Given the description of an element on the screen output the (x, y) to click on. 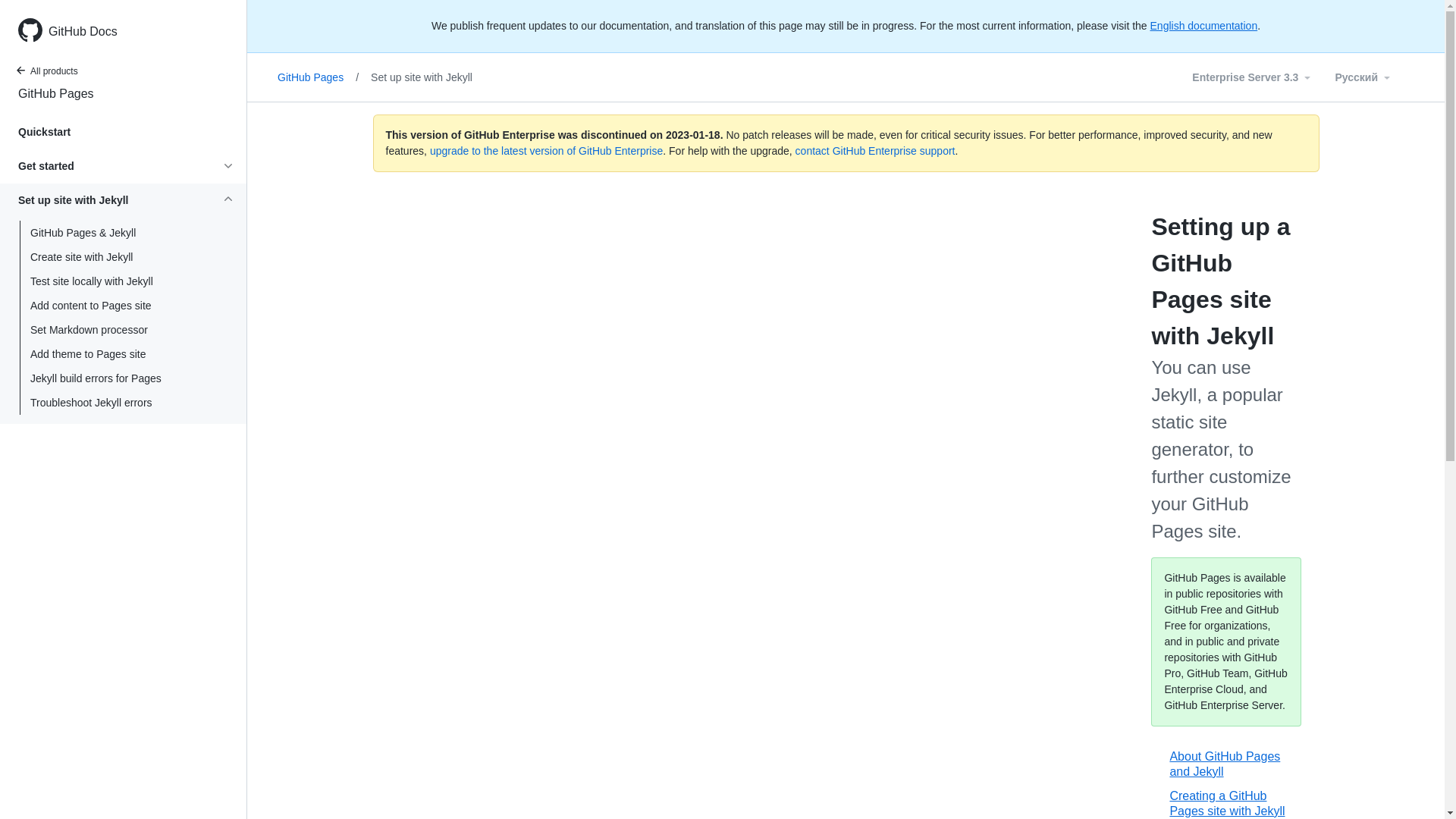
GitHub Pages (123, 94)
Add theme to Pages site (123, 353)
Test site locally with Jekyll (123, 281)
Quickstart (117, 131)
GitHub Pages (58, 94)
English documentation (1203, 25)
Set up site with Jekyll (427, 77)
Create site with Jekyll (123, 256)
Set up site with Jekyll (427, 77)
Troubleshoot Jekyll errors (123, 402)
